Given the description of an element on the screen output the (x, y) to click on. 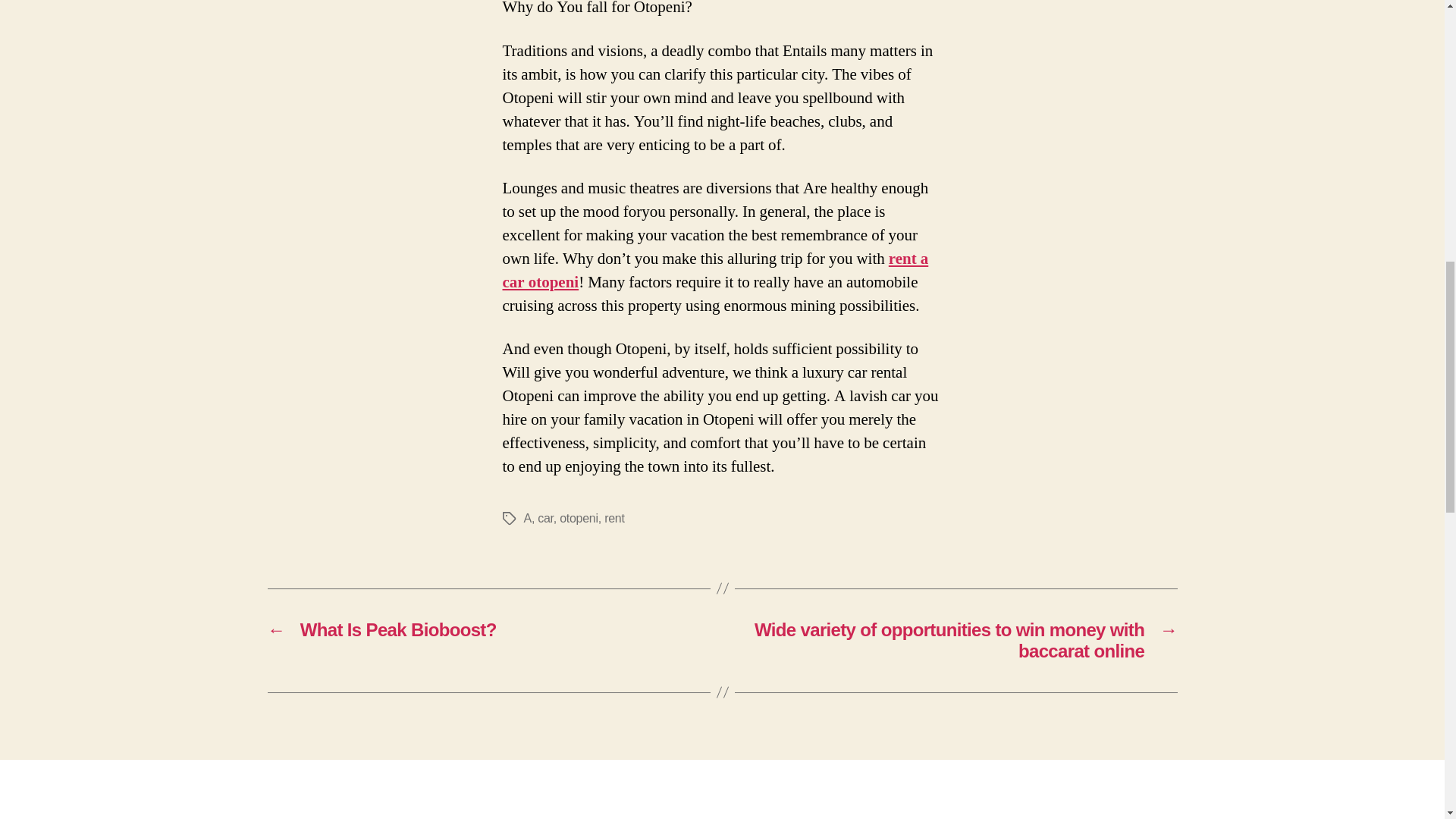
otopeni (578, 517)
A (526, 517)
car (545, 517)
rent a car otopeni (715, 270)
rent (614, 517)
